Given the description of an element on the screen output the (x, y) to click on. 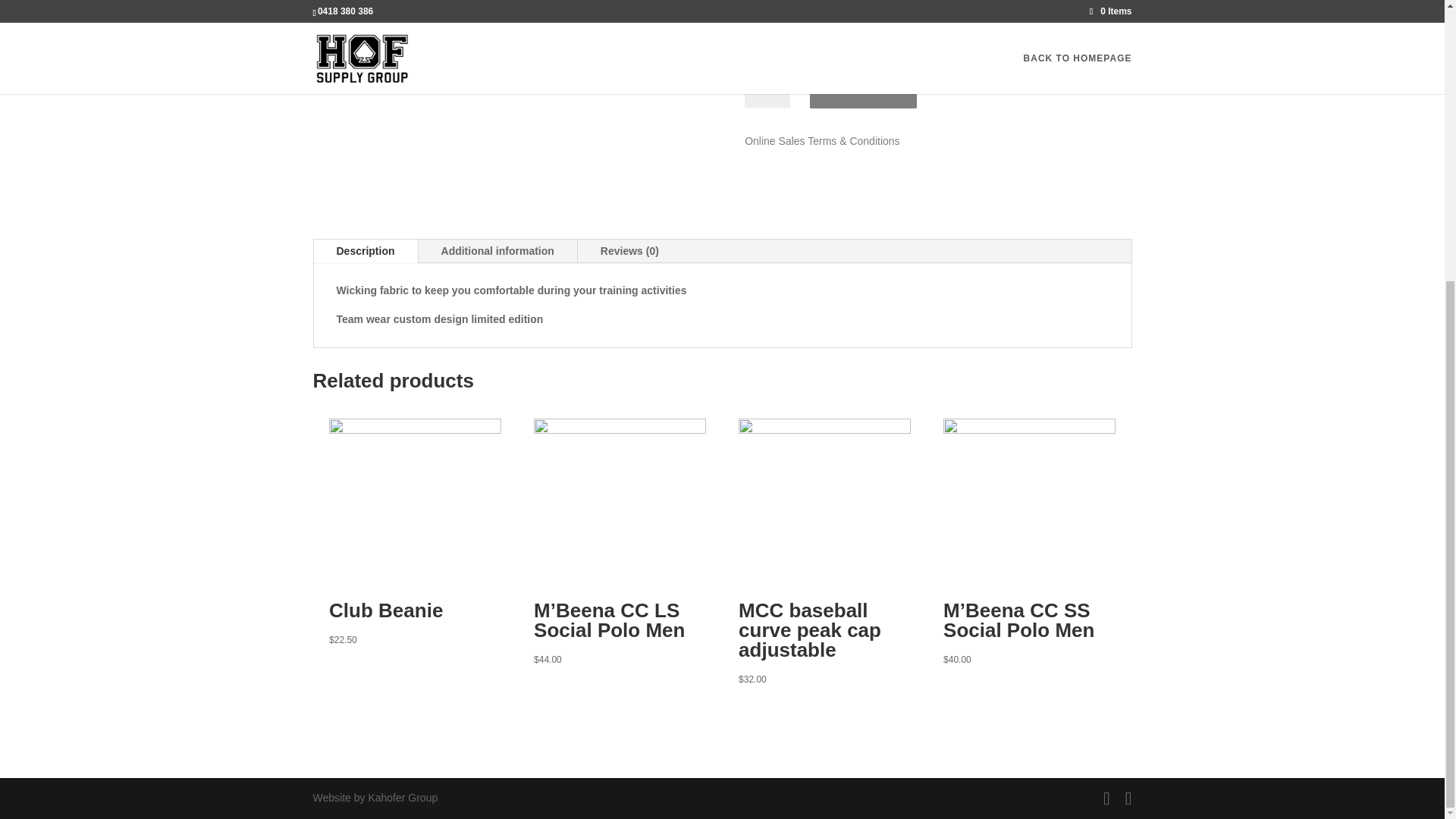
Additional information (497, 251)
Description (365, 251)
1 (767, 86)
Add to Cart (863, 85)
